Given the description of an element on the screen output the (x, y) to click on. 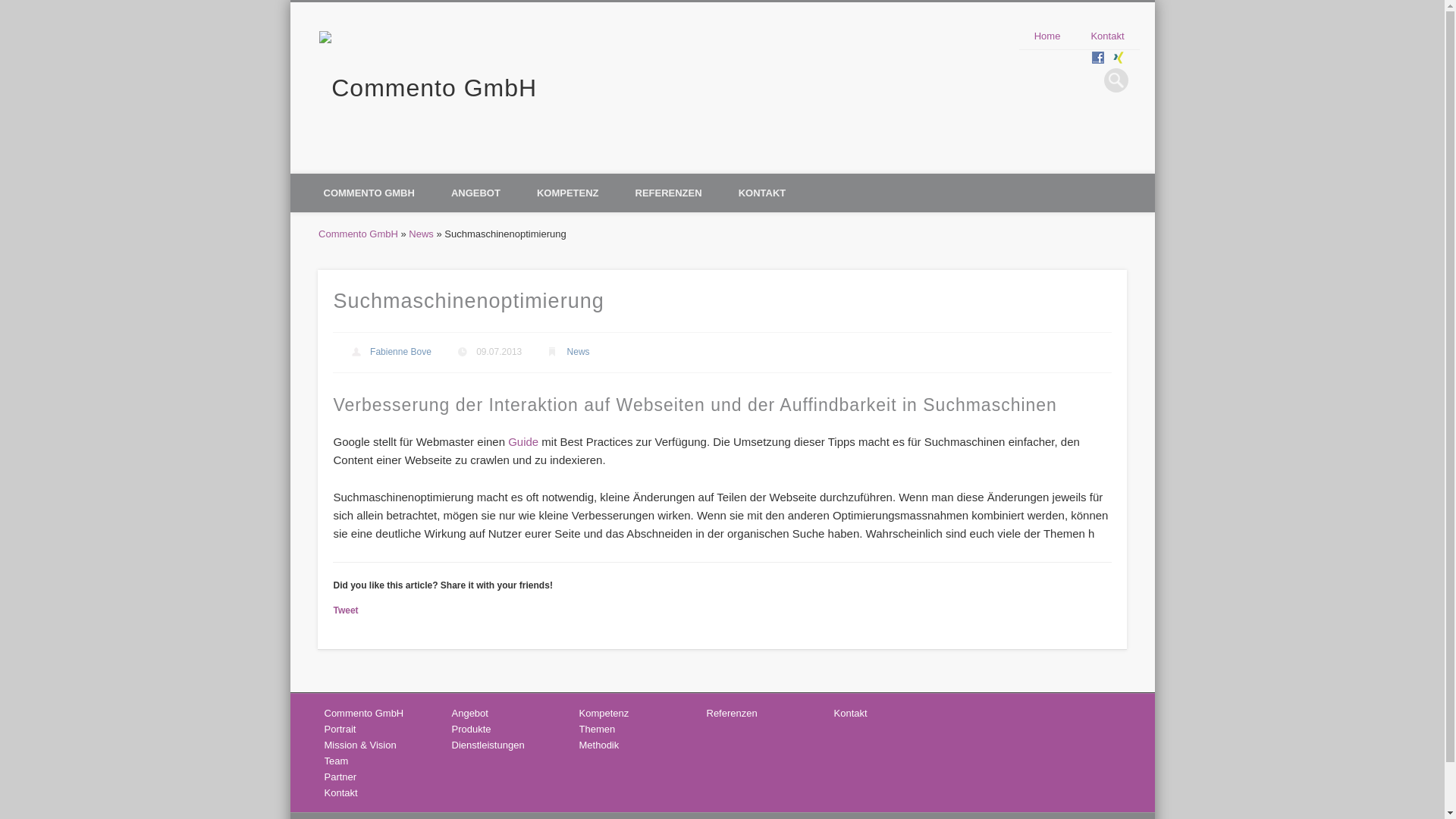
Mission & Vision Element type: text (360, 744)
Kontakt Element type: text (850, 712)
Tweet Element type: text (344, 610)
Home Element type: text (1047, 35)
Search Element type: text (11, 7)
Commento GmbH Element type: hover (427, 87)
Kontakt Element type: text (1106, 35)
Follow Us on XING Element type: hover (1117, 57)
KONTAKT Element type: text (762, 192)
ANGEBOT Element type: text (475, 192)
Follow Us on Facebook Element type: hover (1098, 57)
Angebot Element type: text (469, 712)
Guide Element type: text (523, 441)
Commento GmbH Element type: text (364, 712)
Dienstleistungen Element type: text (487, 744)
News Element type: text (420, 233)
Team Element type: text (336, 760)
Produkte Element type: text (471, 728)
Kontakt Element type: text (340, 792)
Kompetenz Element type: text (604, 712)
Portrait Element type: text (340, 728)
Themen Element type: text (597, 728)
REFERENZEN Element type: text (668, 192)
Fabienne Bove Element type: text (400, 351)
Methodik Element type: text (599, 744)
Referenzen Element type: text (731, 712)
Commento GmbH Element type: text (358, 233)
Commento GmbH Element type: text (639, 59)
COMMENTO GMBH Element type: text (368, 192)
Partner Element type: text (340, 776)
KOMPETENZ Element type: text (567, 192)
News Element type: text (578, 351)
